Given the description of an element on the screen output the (x, y) to click on. 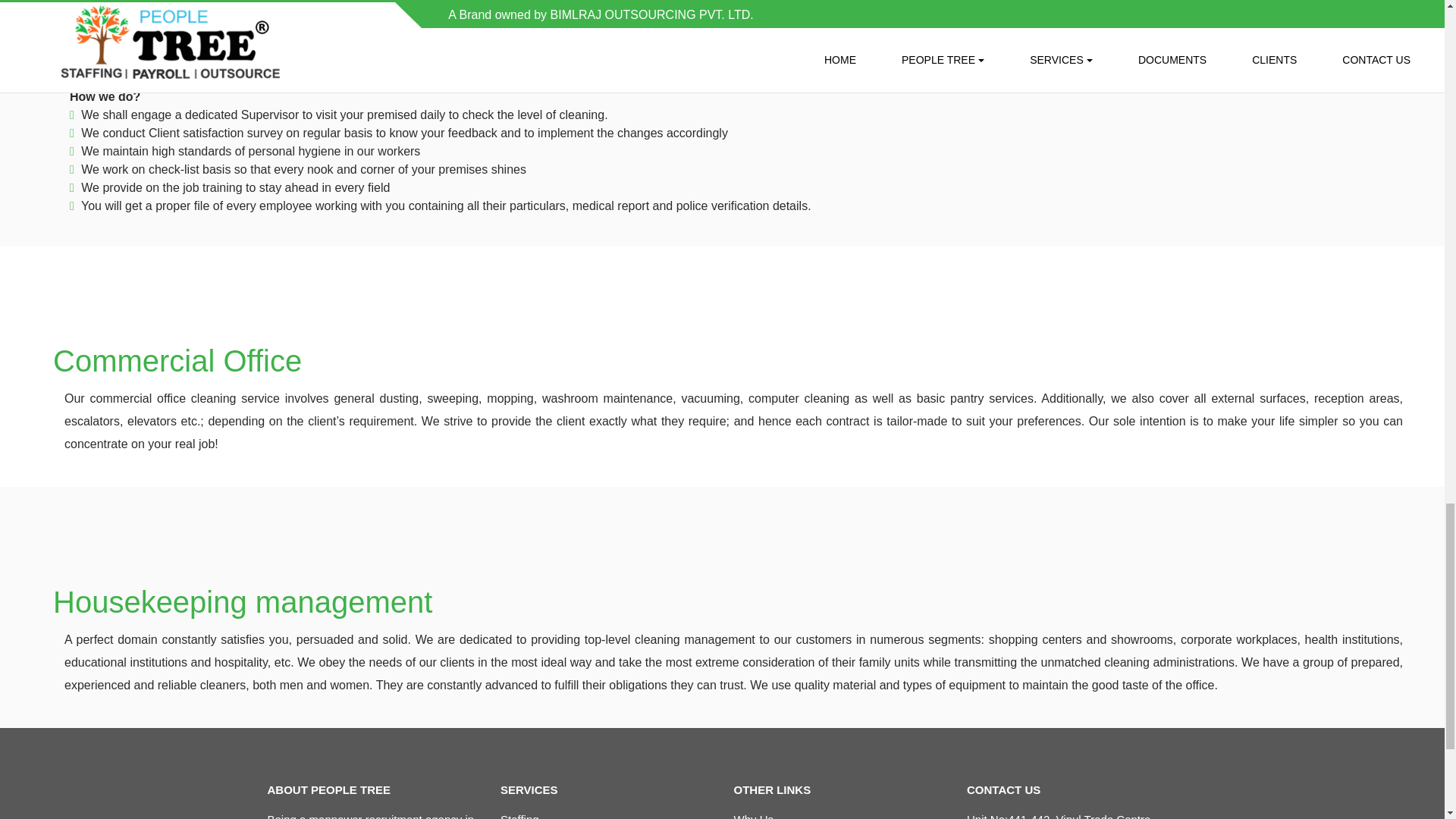
ABOUT PEOPLE TREE (328, 789)
Staffing (519, 816)
SERVICES (528, 789)
